Given the description of an element on the screen output the (x, y) to click on. 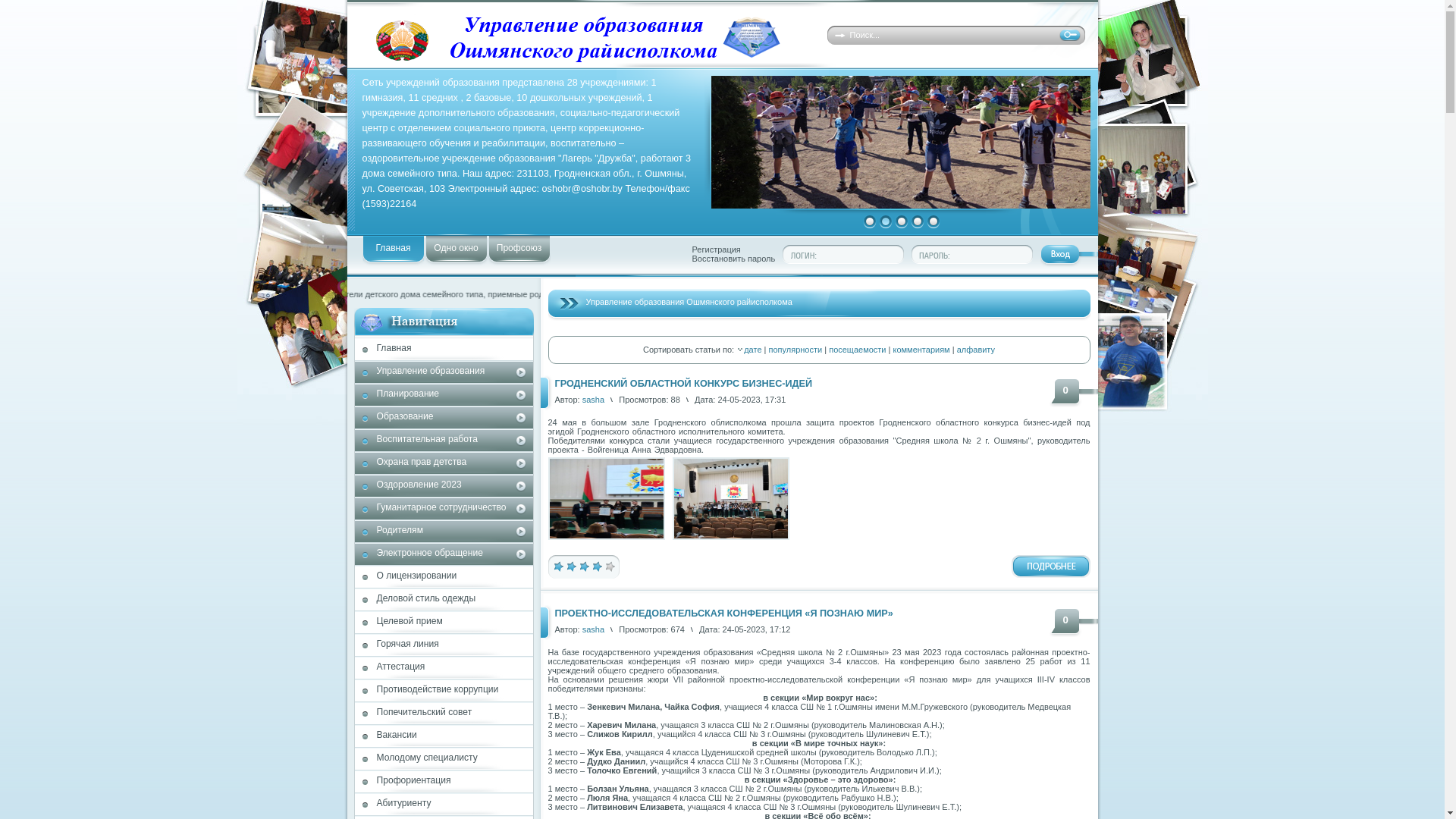
1 Element type: text (558, 565)
2 Element type: text (884, 221)
3 Element type: text (583, 565)
3 Element type: text (901, 221)
5 Element type: text (933, 221)
5 Element type: text (609, 565)
4 Element type: text (916, 221)
2 Element type: text (570, 565)
1 Element type: text (869, 221)
sasha Element type: text (593, 399)
sasha Element type: text (593, 628)
4 Element type: text (595, 565)
